Given the description of an element on the screen output the (x, y) to click on. 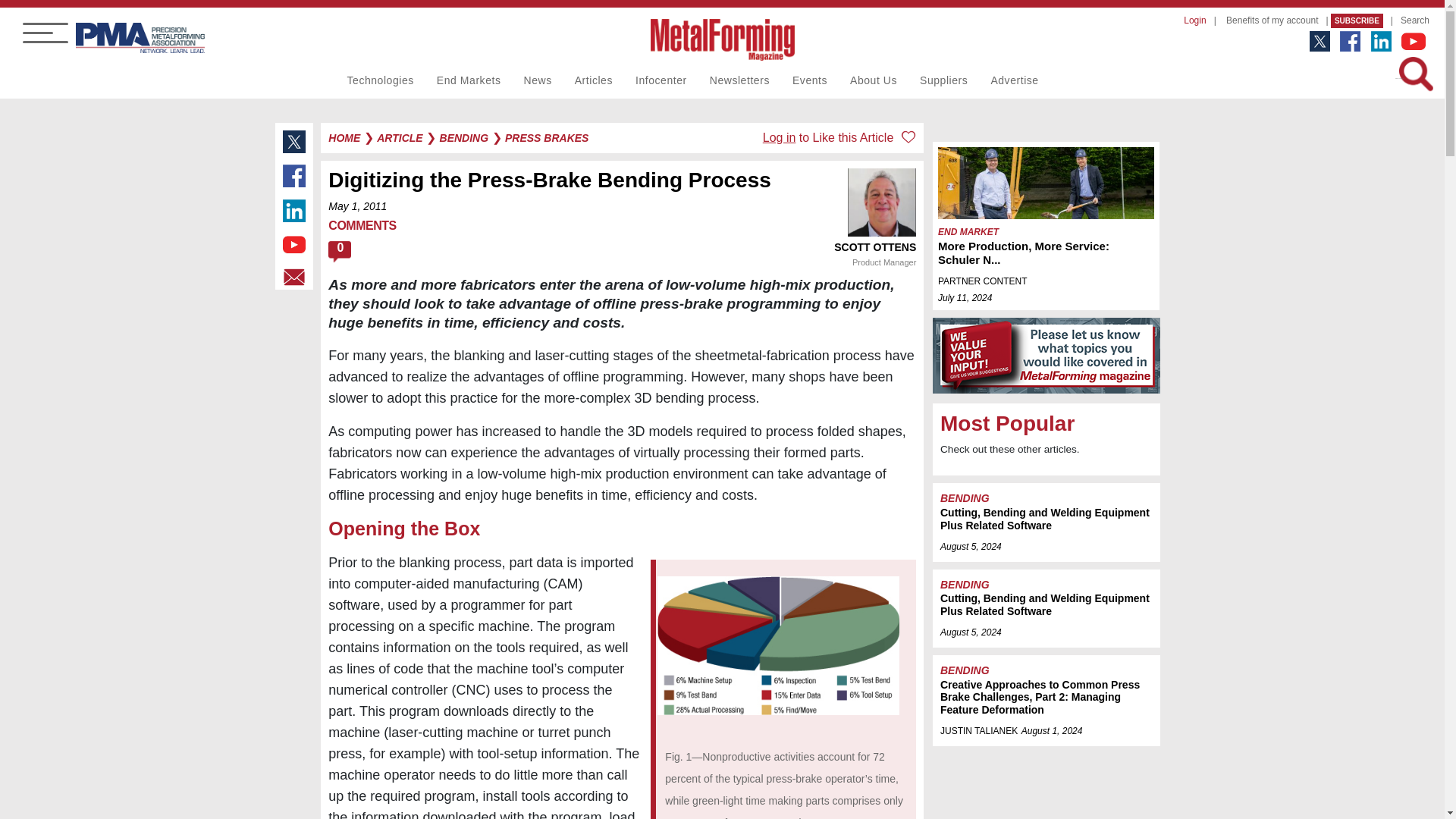
SUBSCRIBE (1356, 20)
Login (1190, 17)
MetalForming magazine (1046, 355)
Search (1411, 17)
Benefits of my account (1267, 17)
